Given the description of an element on the screen output the (x, y) to click on. 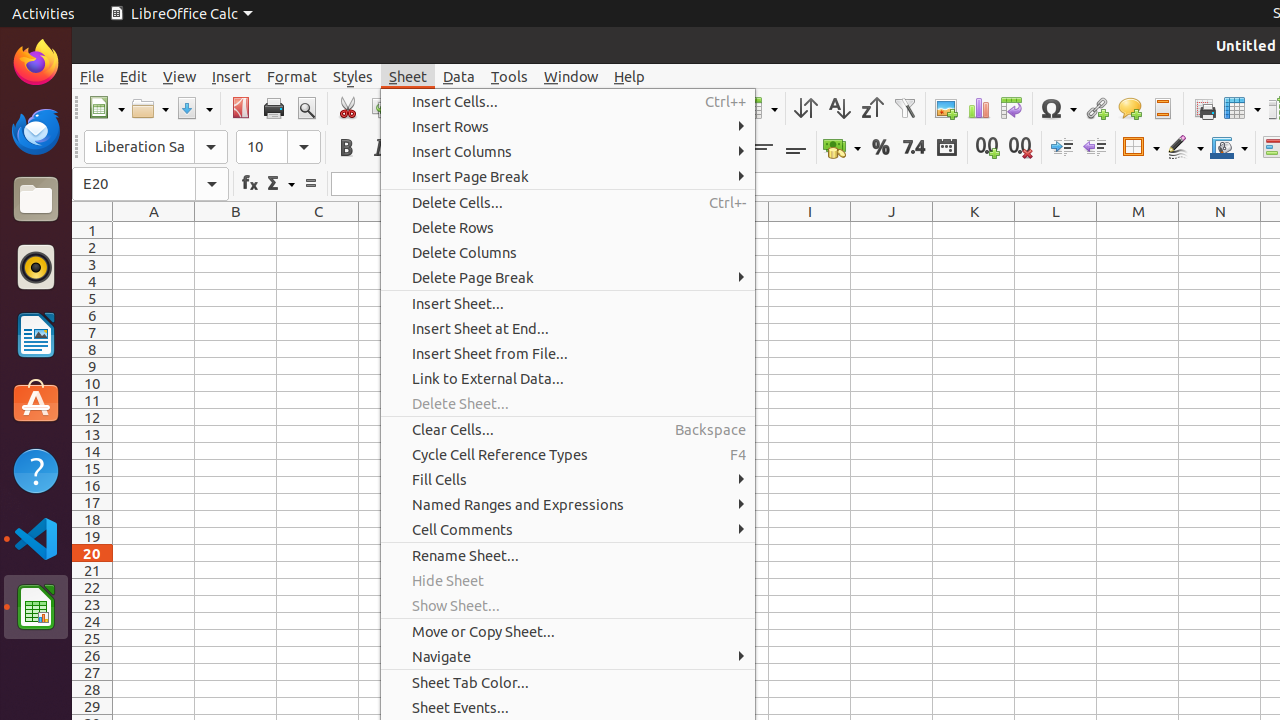
Thunderbird Mail Element type: push-button (36, 131)
I1 Element type: table-cell (810, 230)
View Element type: menu (179, 76)
B1 Element type: table-cell (236, 230)
Cut Element type: push-button (347, 108)
